Given the description of an element on the screen output the (x, y) to click on. 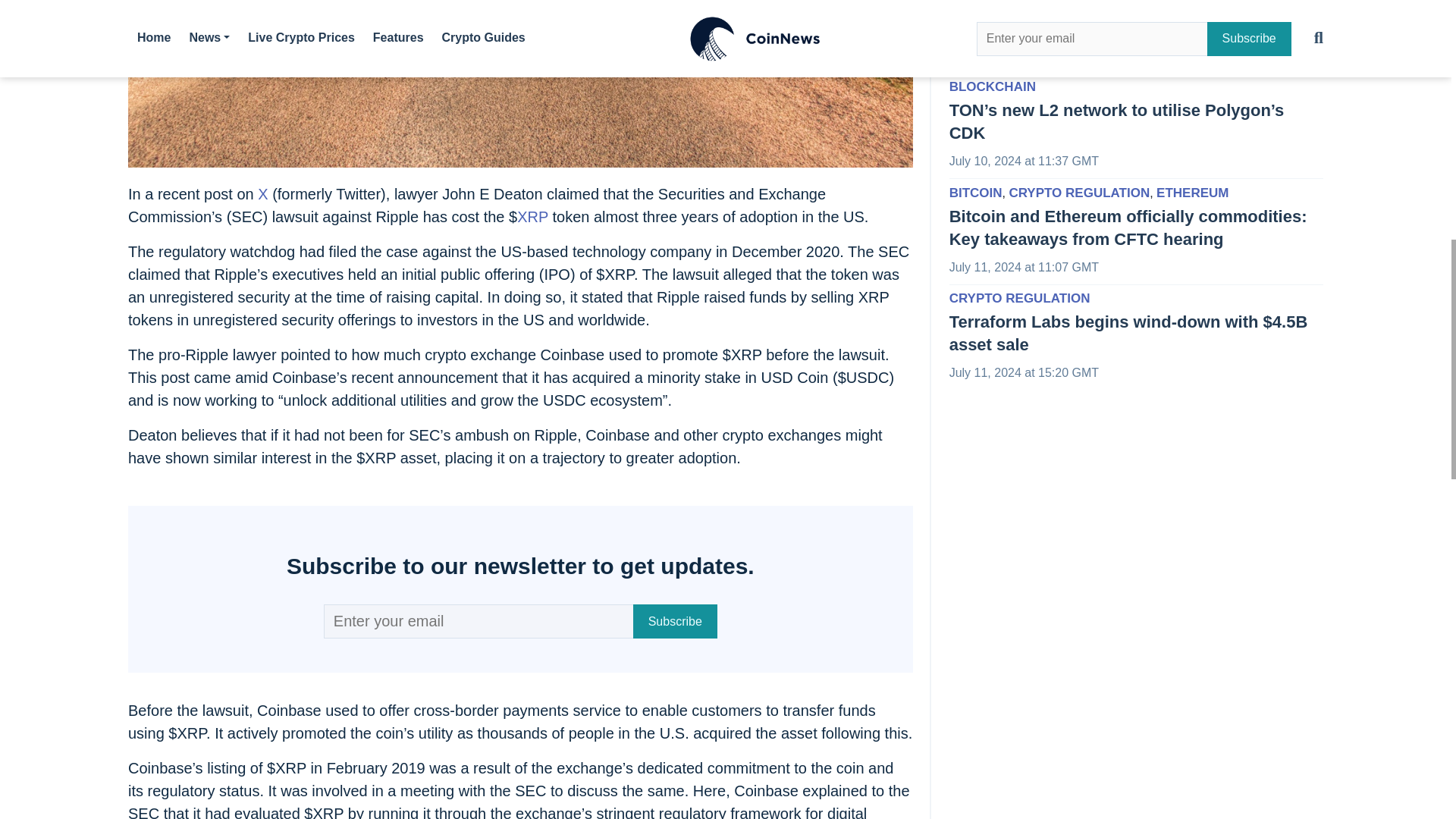
Subscribe (675, 621)
